Given the description of an element on the screen output the (x, y) to click on. 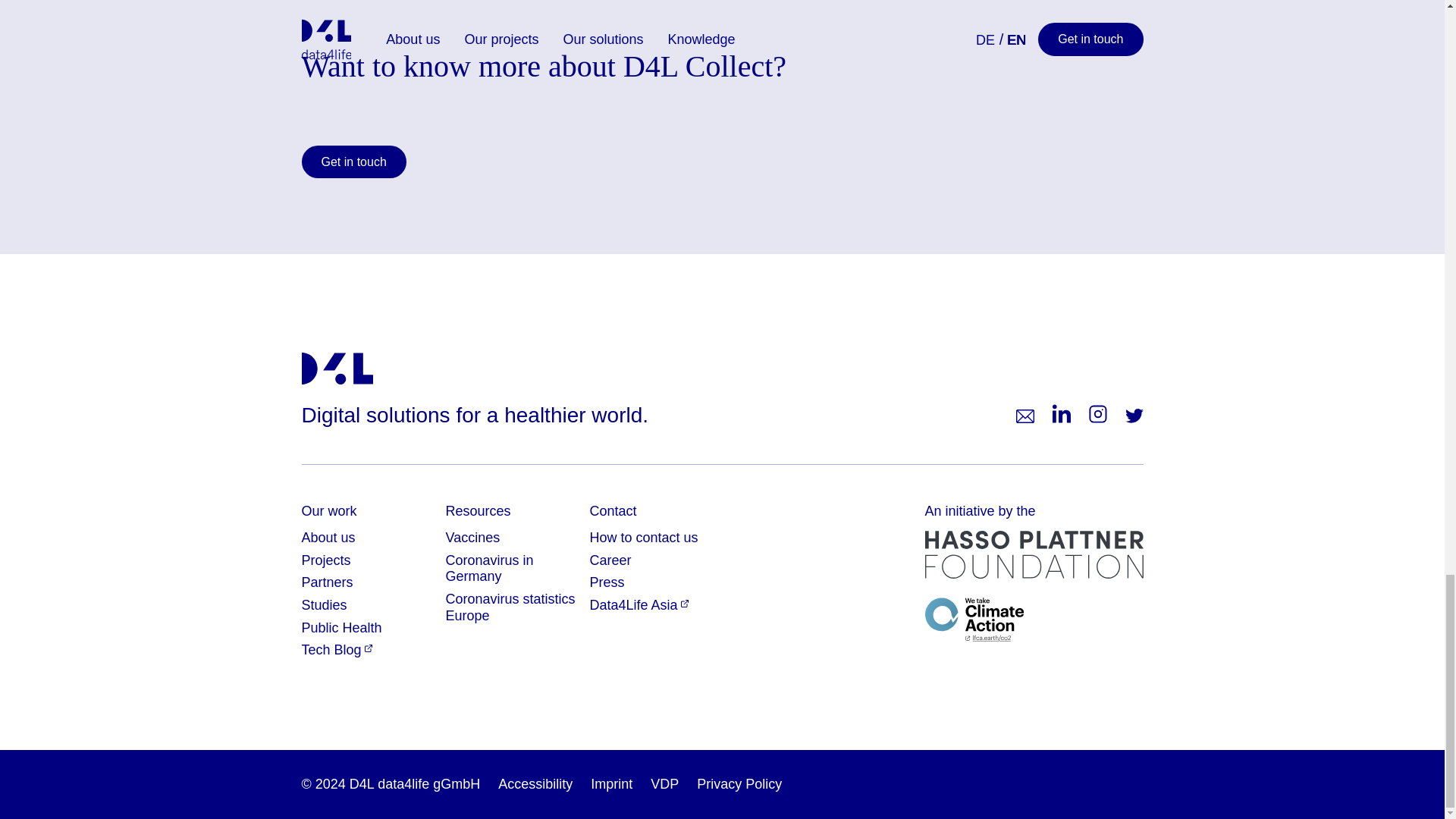
Studies (324, 604)
Press (606, 581)
An initiative by the (1033, 539)
Coronavirus statistics Europe (510, 607)
Public Health (341, 627)
Partners (327, 581)
Vaccines (472, 537)
Coronavirus in Germany (489, 568)
Data4Life Asia (638, 604)
How to contact us (643, 537)
